Given the description of an element on the screen output the (x, y) to click on. 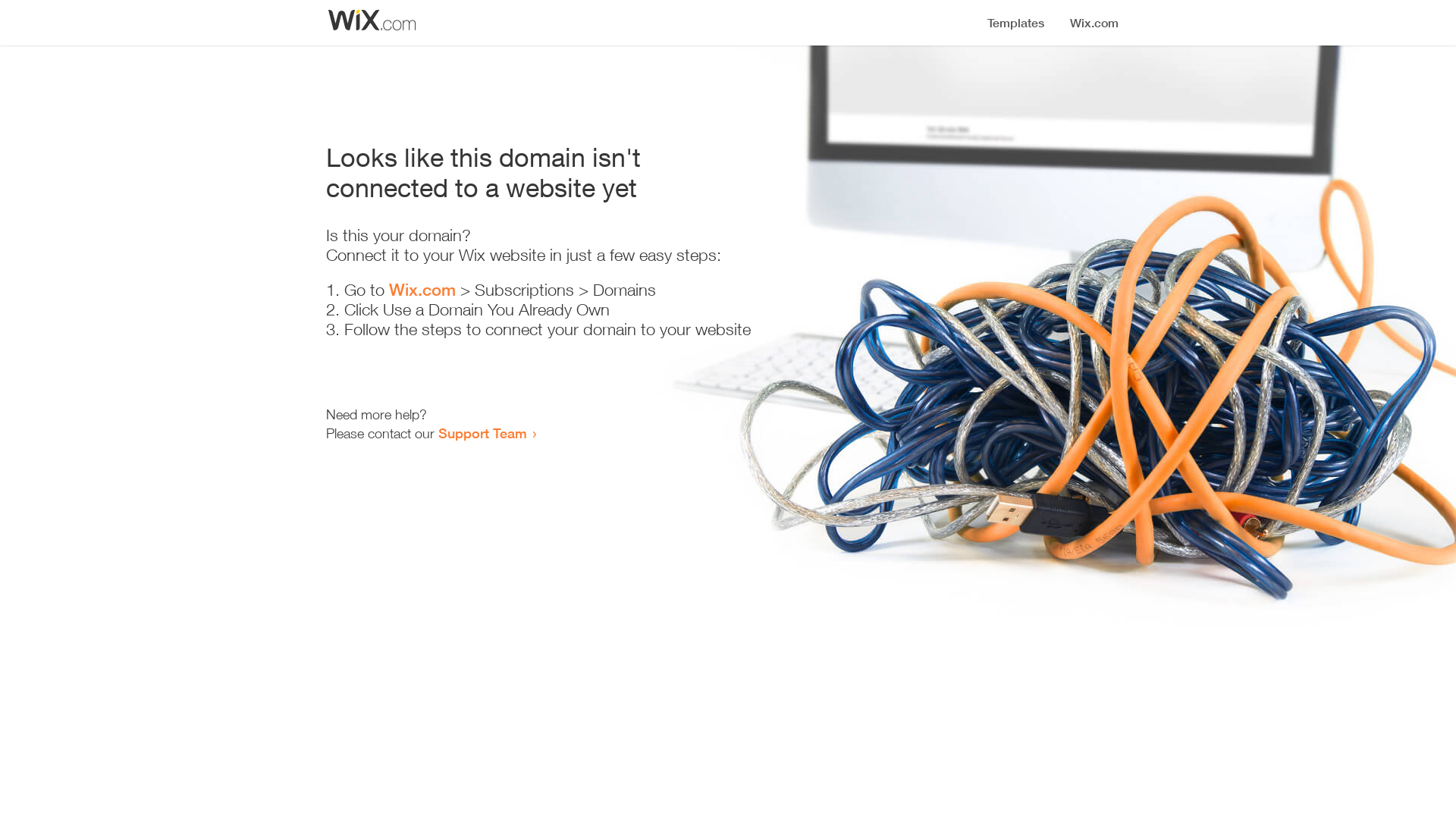
Support Team Element type: text (482, 432)
Wix.com Element type: text (422, 289)
